Given the description of an element on the screen output the (x, y) to click on. 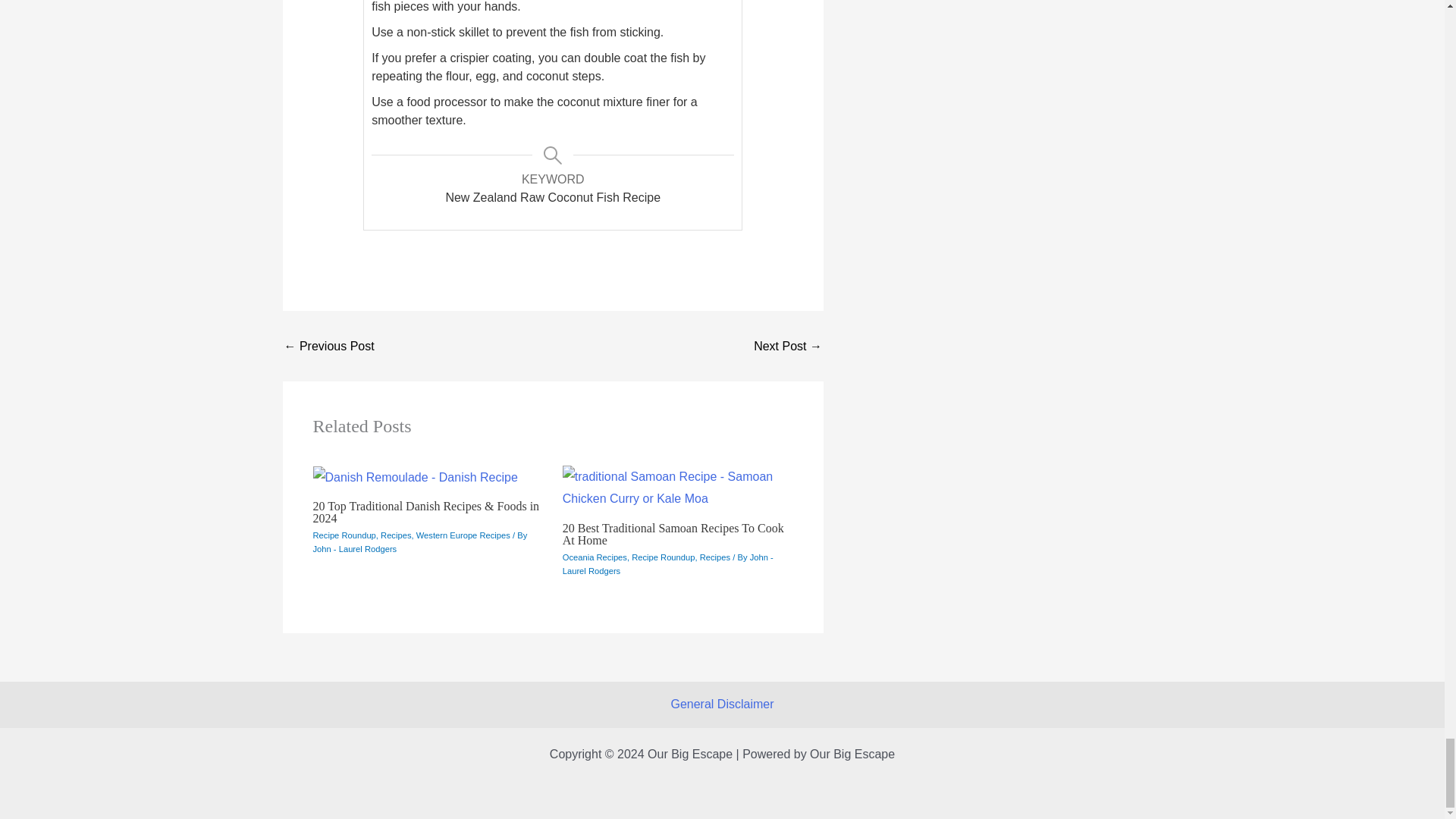
View all posts by John - Laurel Rodgers (667, 563)
Recipe Roundup (344, 534)
View all posts by John - Laurel Rodgers (354, 548)
Recipes (395, 534)
New Zealand Smoked Kahawai Mishmash Recipe (788, 346)
New Zealand Potato and Lamb Sliders Recipe (328, 346)
